Given the description of an element on the screen output the (x, y) to click on. 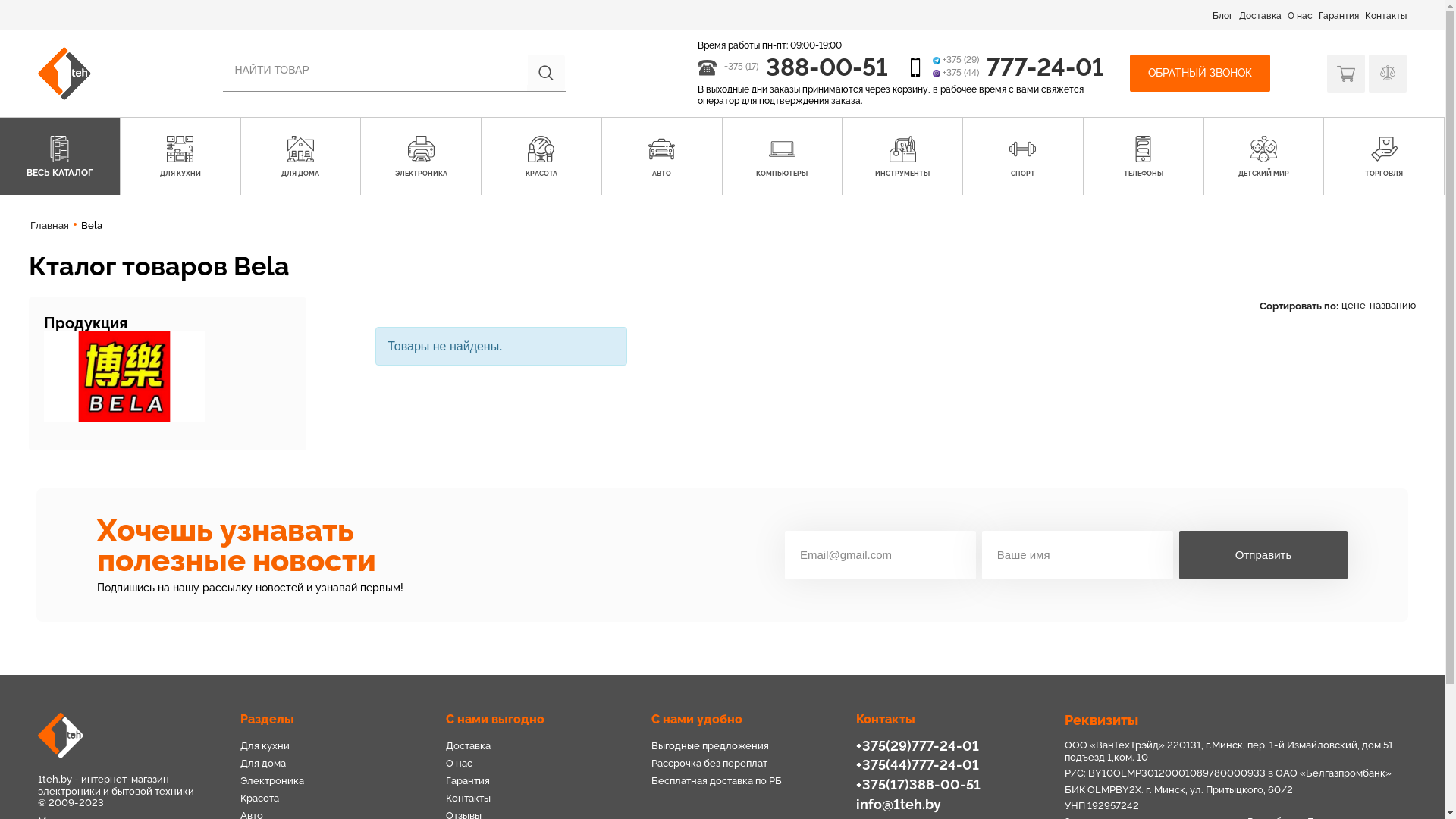
subEmail Element type: hover (879, 554)
388-00-51 Element type: text (826, 67)
subName Element type: hover (1077, 554)
777-24-01 Element type: text (1045, 67)
Bela Element type: hover (123, 375)
+375(17)388-00-51 Element type: text (918, 784)
info@1teh.by Element type: text (898, 804)
+375(29)777-24-01 Element type: text (917, 745)
+375(44)777-24-01 Element type: text (917, 764)
